Given the description of an element on the screen output the (x, y) to click on. 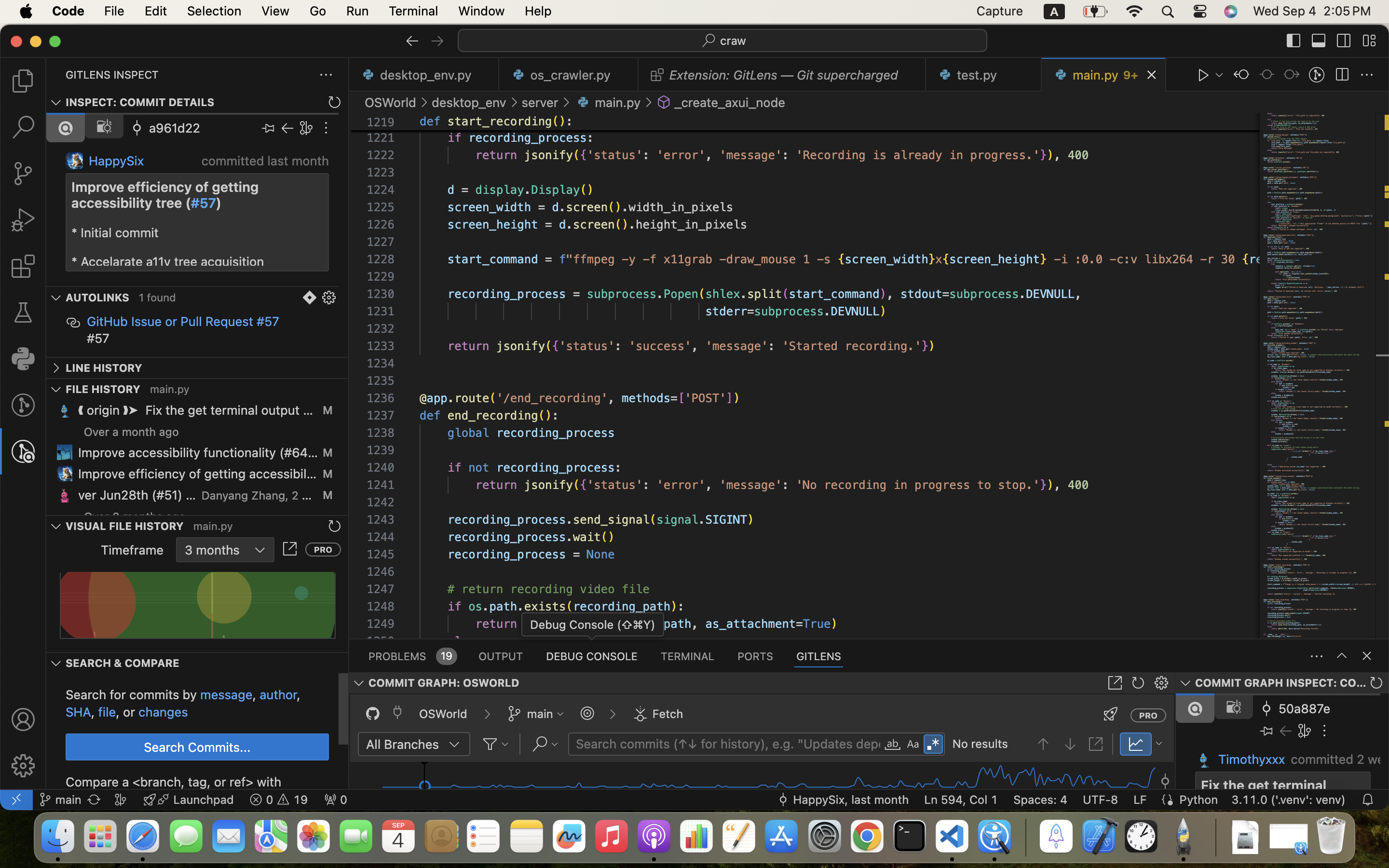
M Element type: AXStaticText (327, 452)
* Initial commit

* Accelarate a11y tree acquisition

* Clean code

* Leave todos for Windows and macOS

* Prepare for support of win and macos

* Prepare for support of win and macos

* Minor fix

* add preliminary support for macos

* fix subtle bugs

* Clean the windows a11y tree getter code

* Clean the windows a11y tree getter code

* Intermediate version

* Intermediate version

* Update

* adding support for macos

* Delete dummy

* Delete dummy

* add bounding box for pruning

* Delete dummy

* FIX: enable a11y tree fetching on Windows

* Move the requirement depency item place

* FIX: remove "jsonify" from return value of get a11y tree

* FIX: change print into logger, decompose functions in _create_pywinauto_node

* Update

* remove redundant nodes on macos

* remove reliance of pywinauto

* Clean

* Fix bugs for pywinauto a11y_tree acquisition

* FEAT: only fetch active windows, skip repeated nodes

* CHORE: clean code, add comments on time-consuming part, add connection logger.info

* FEAT: 1. add attrs including class_name, id, count... 2. use multithread to accelerate

* FIX: add code of getting writable properties

* Clean, update the max_depth for macOS

* FIX: get all active windows

* Accelarate child nodes in macOS

* FEAT: get all active windows, add timing when testing

* CHORE: remove print

* Clean and finalize

* Clean and finalize

---------

Co-authored-by: Timothyxxx <384084775@qq.com>
Co-authored-by: Junli Wang Element type: AXStaticText (190, 245)
AUTOLINKS Element type: AXStaticText (97, 297)
 Element type: AXButton (1266, 74)
Improve accessibility functionality (#64) … Element type: AXStaticText (198, 452)
